Given the description of an element on the screen output the (x, y) to click on. 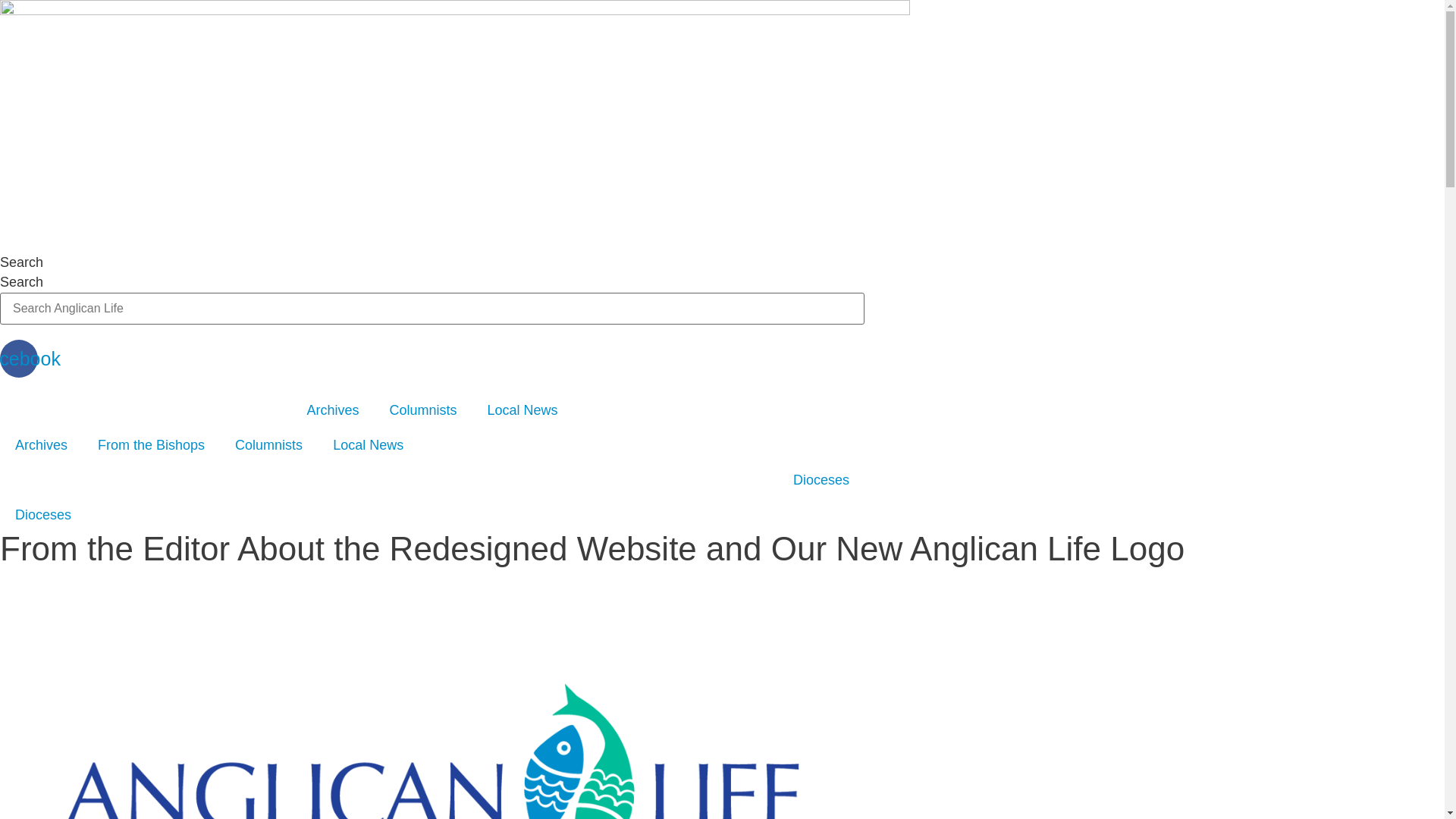
Columnists Element type: text (422, 409)
From the Bishops Element type: text (150, 444)
Archives Element type: text (332, 409)
Columnists Element type: text (268, 444)
Skip to content Element type: text (0, 0)
Local News Element type: text (521, 409)
Dioceses Element type: text (43, 514)
Archives Element type: text (41, 444)
Local News Element type: text (367, 444)
Facebook Element type: text (18, 358)
Dioceses Element type: text (821, 479)
